Given the description of an element on the screen output the (x, y) to click on. 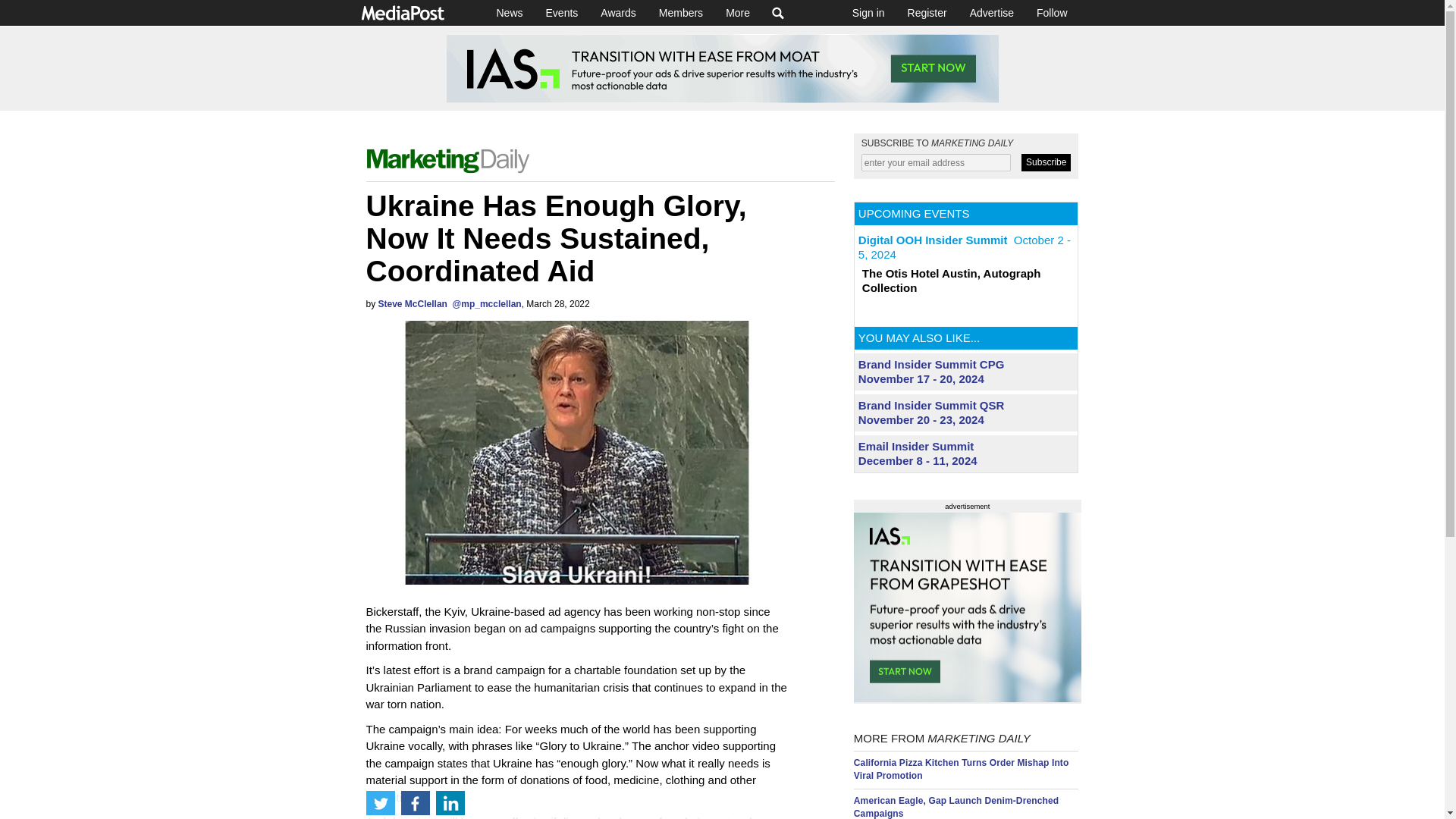
Share on LinkedIn (449, 802)
Share on Facebook (414, 802)
Subscribe (1046, 162)
Share on Twitter (379, 802)
News (509, 12)
